Given the description of an element on the screen output the (x, y) to click on. 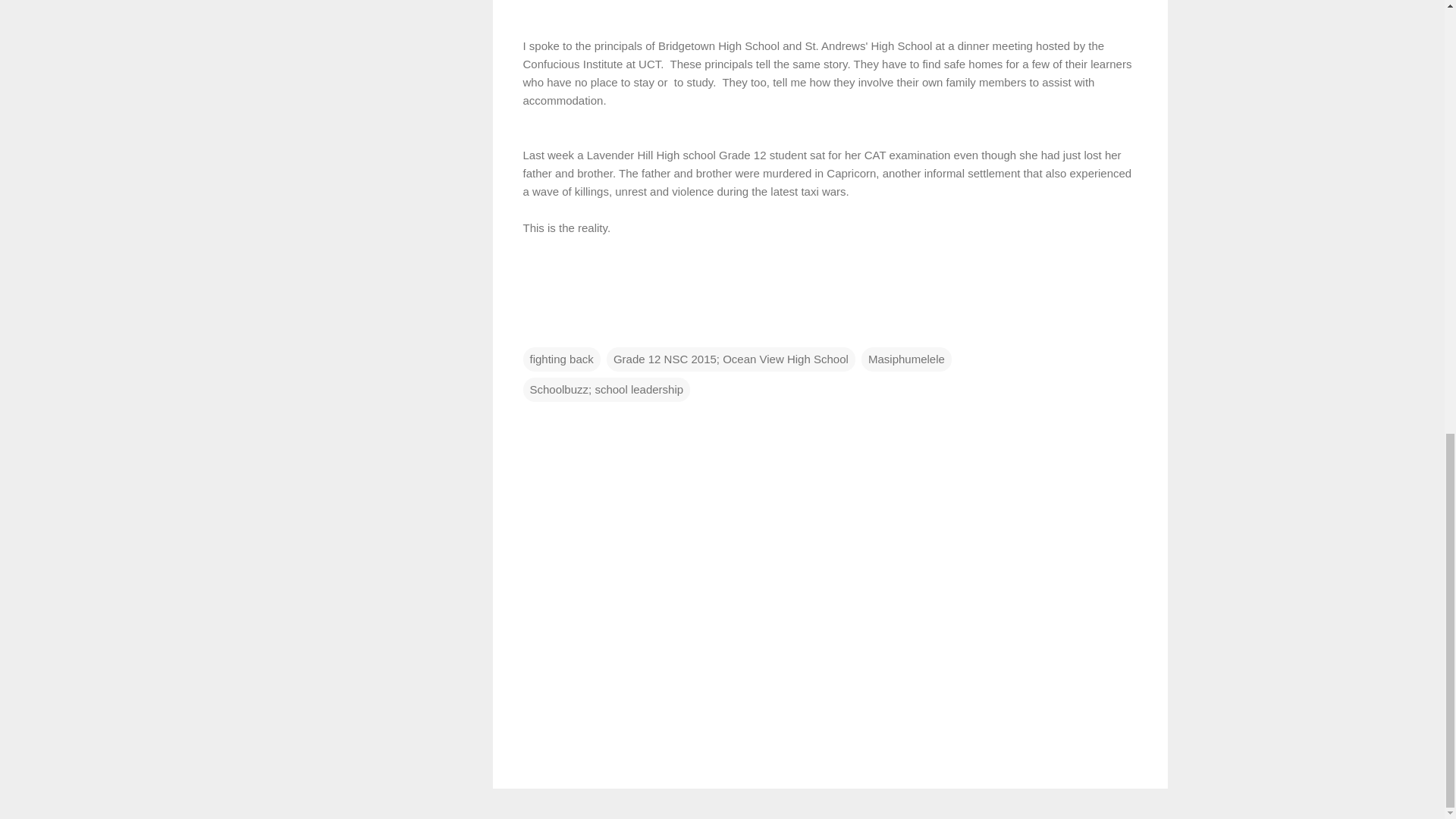
fighting back (560, 358)
Masiphumelele (906, 358)
Schoolbuzz; school leadership (606, 388)
Grade 12 NSC 2015; Ocean View High School (731, 358)
